Given the description of an element on the screen output the (x, y) to click on. 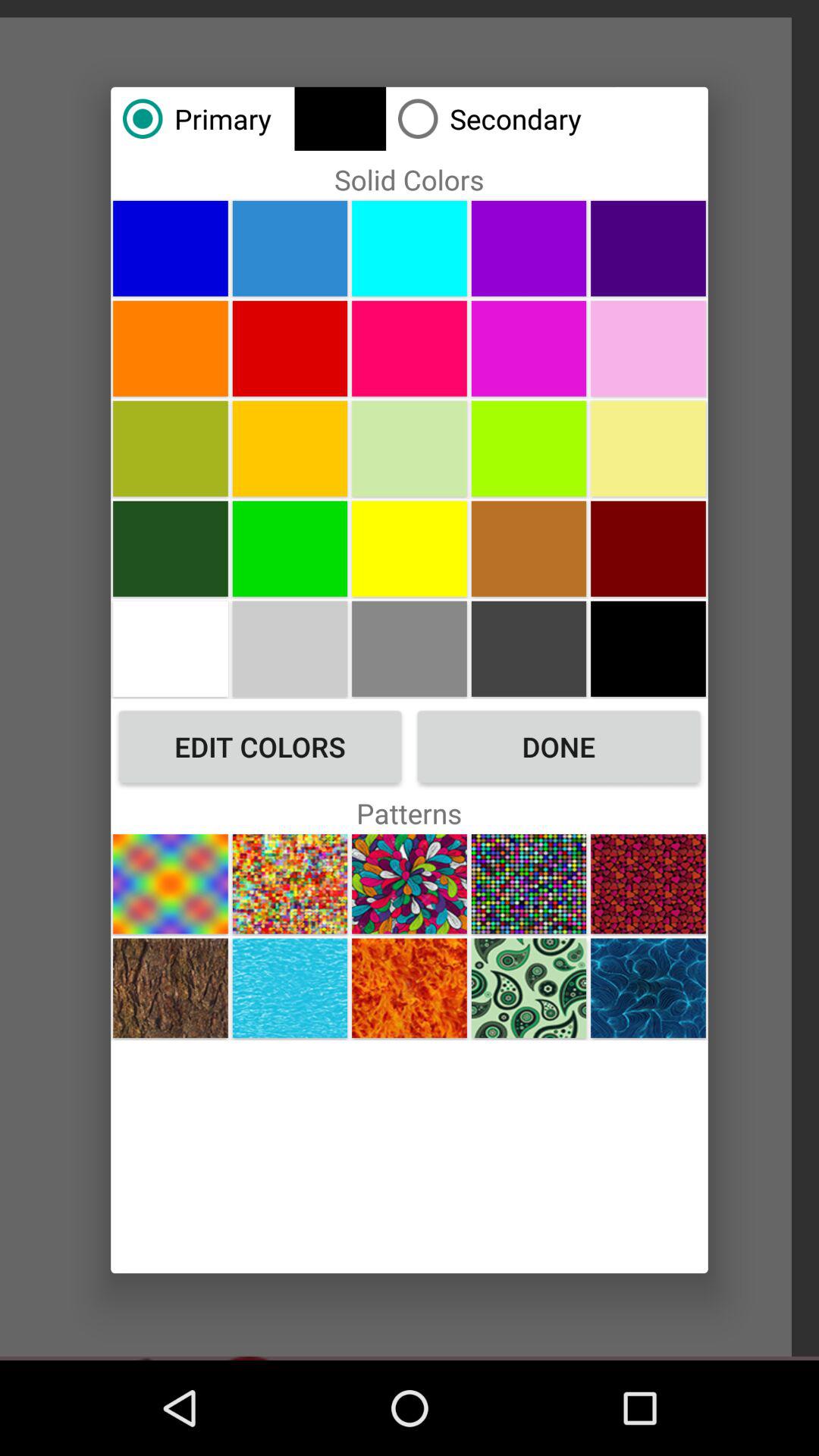
launch the icon above patterns (259, 746)
